Given the description of an element on the screen output the (x, y) to click on. 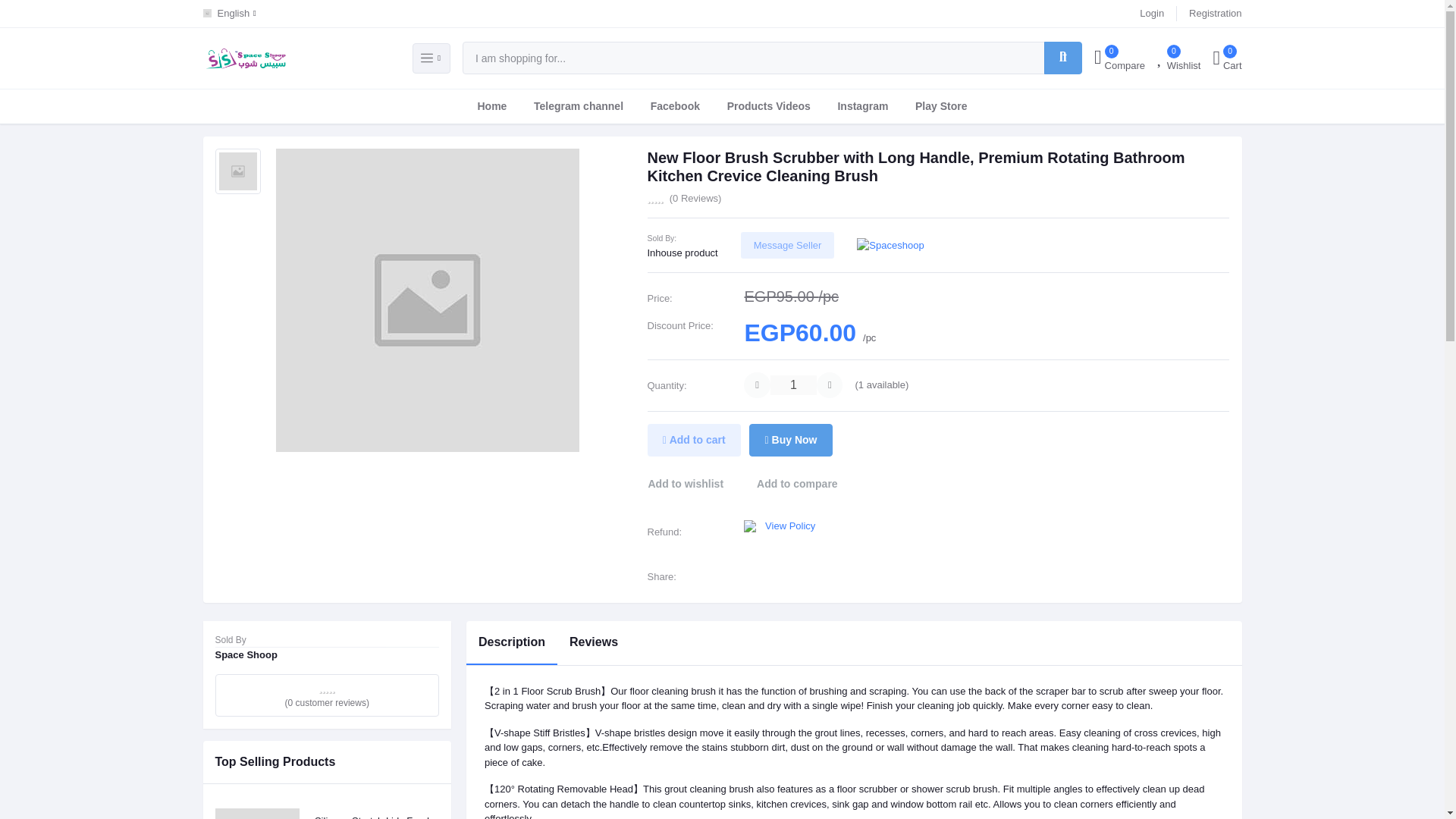
Add to compare (797, 484)
Registration (1215, 13)
Play Store (940, 106)
Buy Now (790, 439)
Add to wishlist (693, 484)
Facebook (675, 106)
Home (491, 106)
Login (1151, 13)
Add to cart (694, 439)
Products Videos (768, 106)
